Given the description of an element on the screen output the (x, y) to click on. 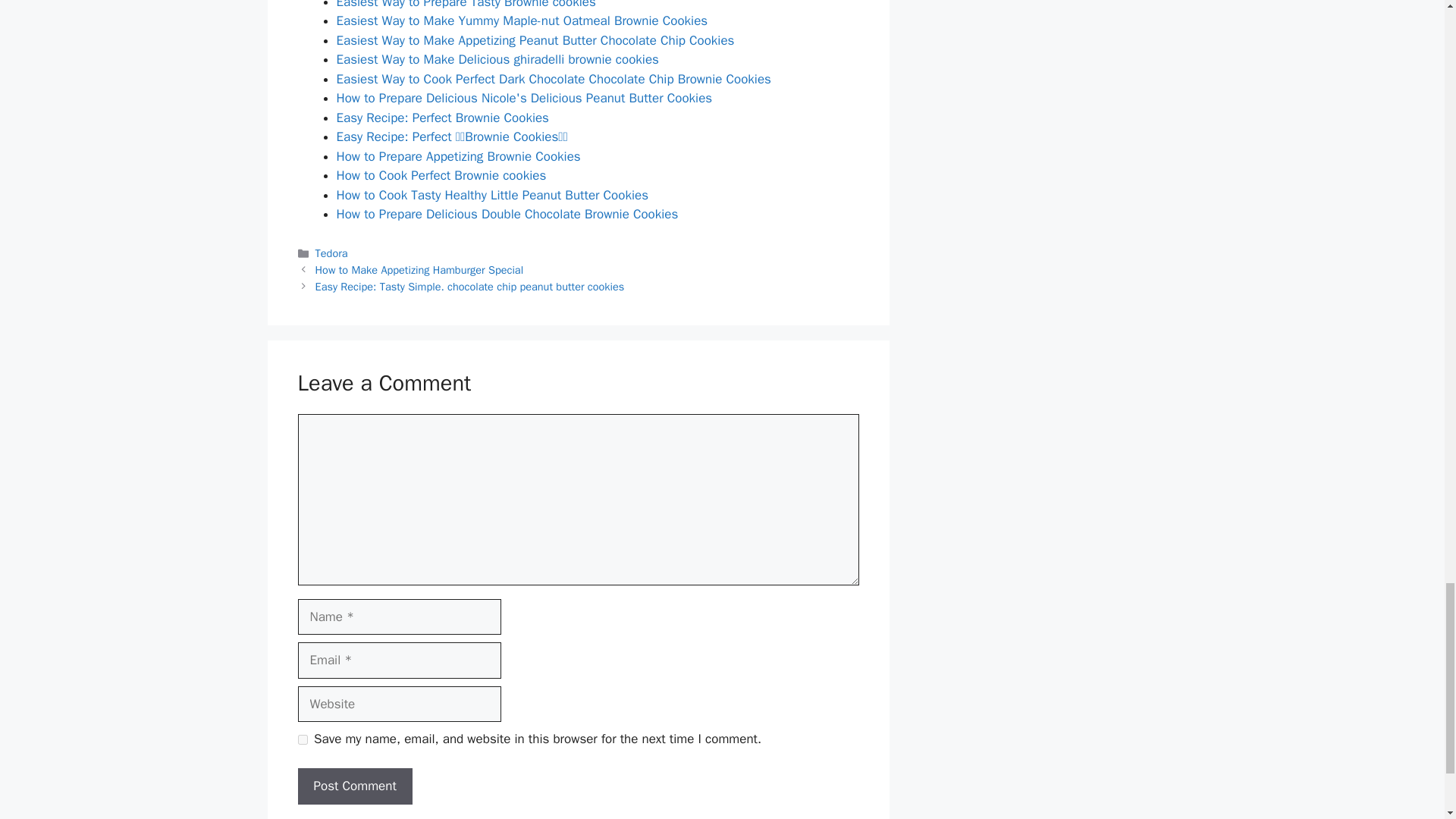
How to Prepare Appetizing Brownie Cookies (458, 156)
Easiest Way to Make Yummy Maple-nut Oatmeal Brownie Cookies (521, 20)
Easiest Way to Make Delicious ghiradelli brownie cookies (497, 59)
yes (302, 739)
How to Cook Perfect Brownie cookies (441, 175)
Easiest Way to Prepare Tasty Brownie cookies (465, 4)
How to Cook Tasty Healthy Little Peanut Butter Cookies (492, 195)
How to Prepare Delicious Double Chocolate Brownie Cookies (507, 213)
Tedora (331, 253)
Post Comment (354, 786)
How to Make Appetizing Hamburger Special (419, 269)
